Given the description of an element on the screen output the (x, y) to click on. 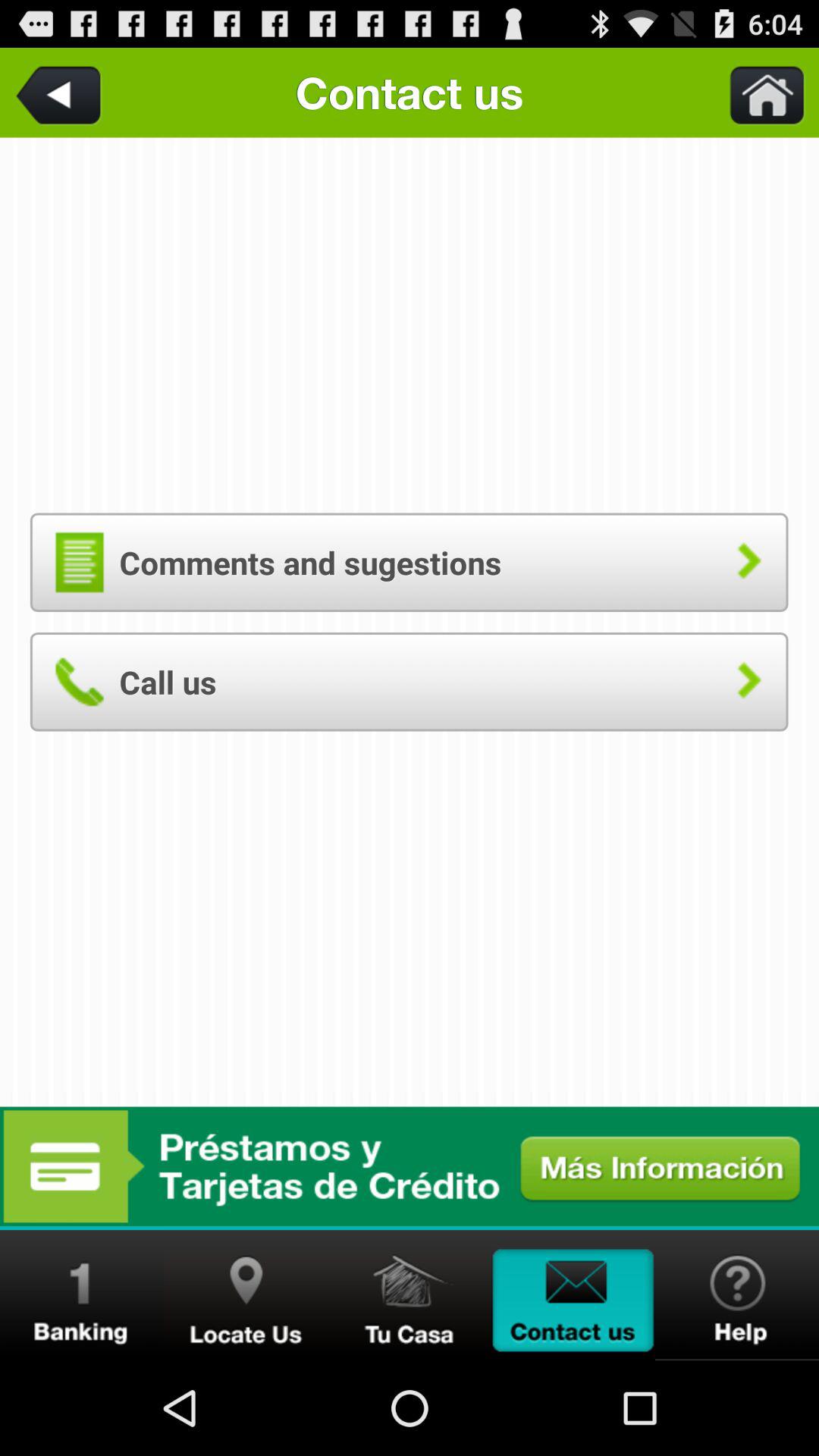
contact us option (573, 1295)
